Given the description of an element on the screen output the (x, y) to click on. 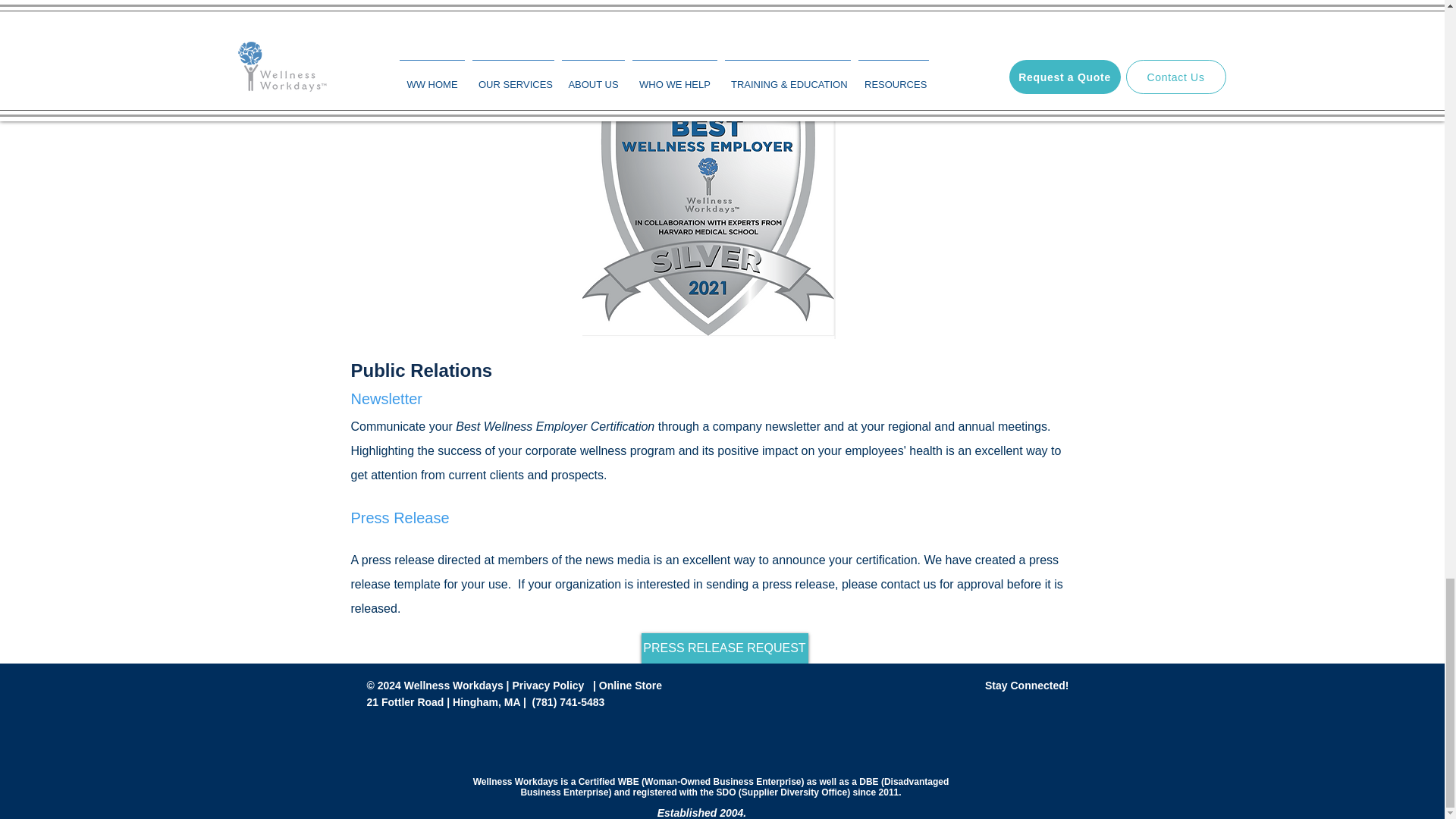
Online Store (630, 685)
Privacy Policy  (549, 685)
PRESS RELEASE REQUEST (725, 648)
